Given the description of an element on the screen output the (x, y) to click on. 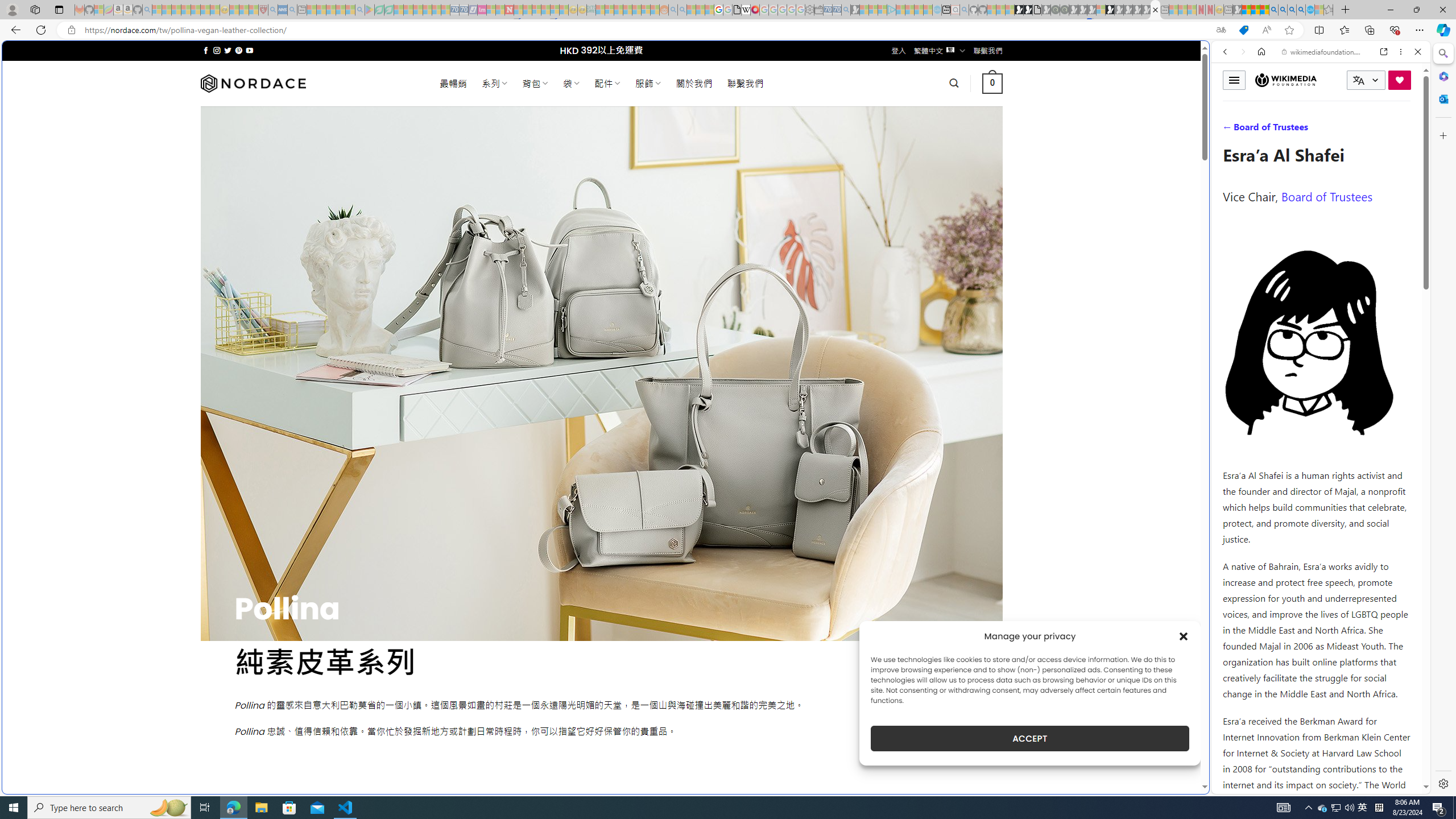
  0   (992, 83)
Class: cmplz-close (1183, 636)
